Given the description of an element on the screen output the (x, y) to click on. 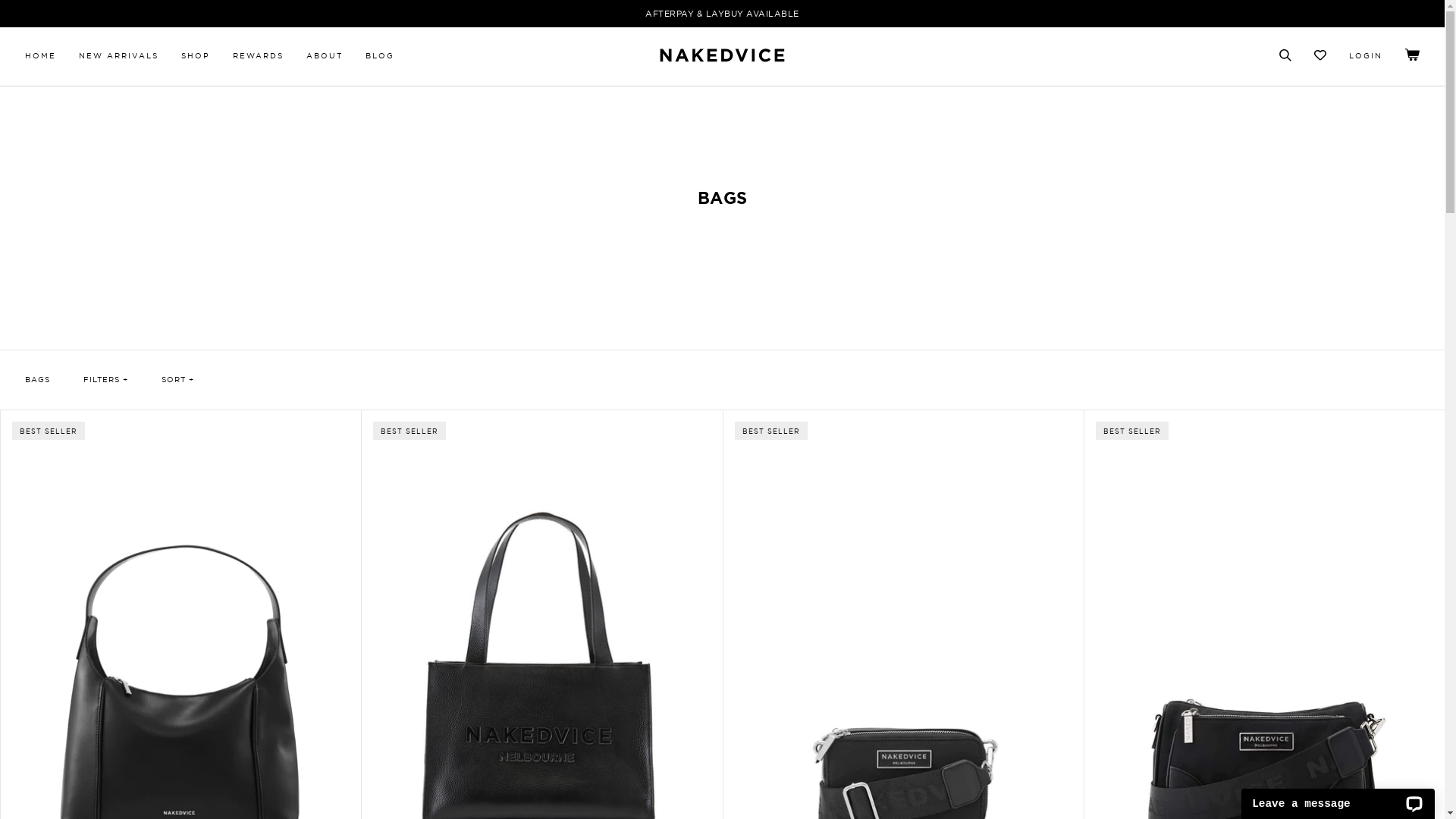
LOGIN Element type: text (1365, 54)
SHOP Element type: text (195, 55)
DHL INTERNATIONAL SHIPPING 3-4 BUSINESS DAYS* Element type: text (722, 14)
SHAPE Element type: text (1320, 57)
BLOG Element type: text (379, 55)
NEW ARRIVALS Element type: text (118, 55)
FILTERS + Element type: text (105, 379)
SHAPE Element type: text (1412, 58)
ABOUT Element type: text (324, 55)
REWARDS Element type: text (257, 55)
SORT + Element type: text (177, 379)
HOME Element type: text (40, 55)
